Given the description of an element on the screen output the (x, y) to click on. 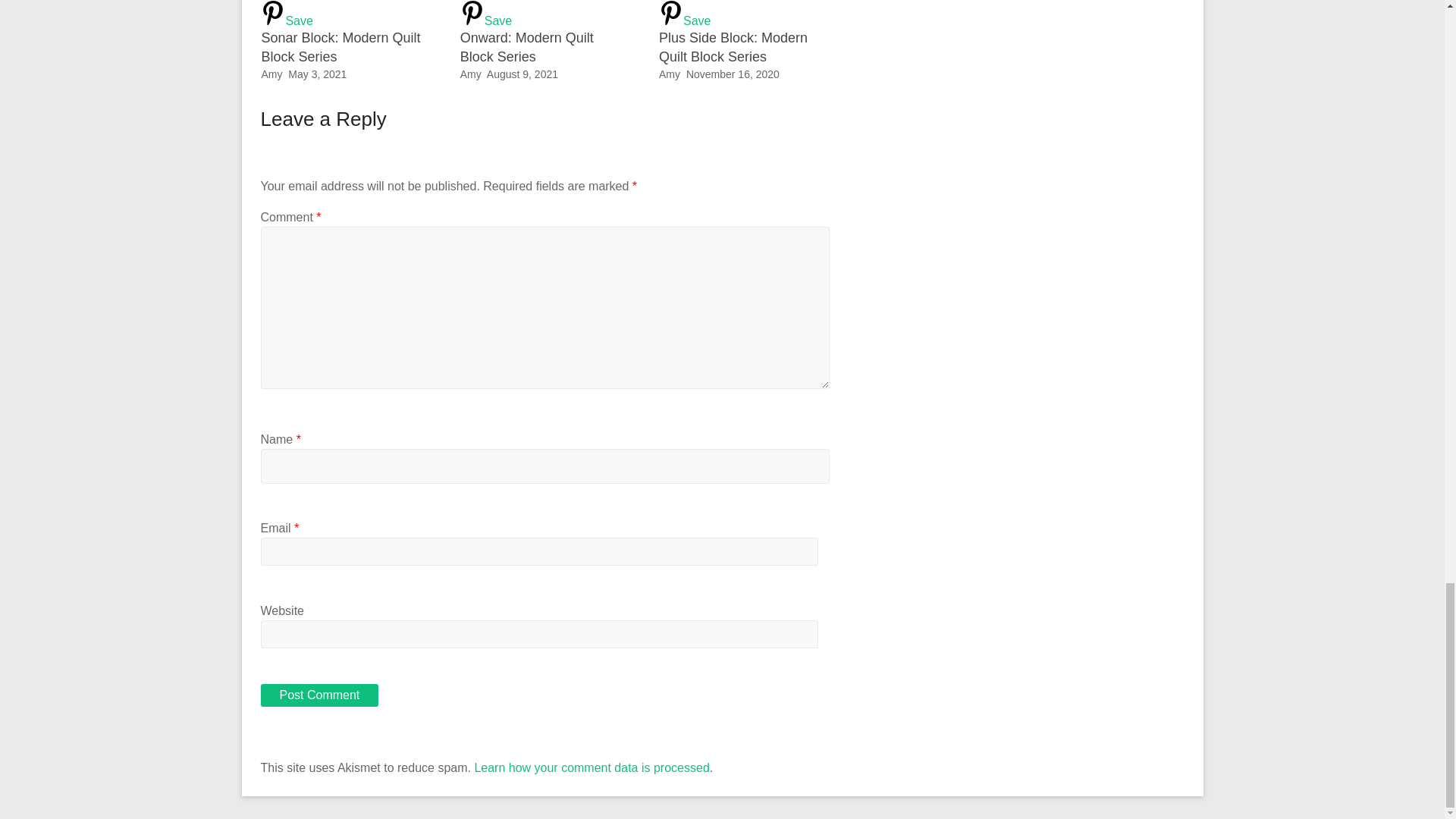
Amy (669, 73)
Save (345, 14)
Save (743, 14)
Amy (271, 73)
Onward: Modern Quilt Block Series (527, 47)
Plus Side Block: Modern Quilt Block Series (733, 47)
Plus Side Block: Modern Quilt Block Series (743, 14)
Post Comment (319, 694)
Post Comment (319, 694)
Save (545, 14)
